Given the description of an element on the screen output the (x, y) to click on. 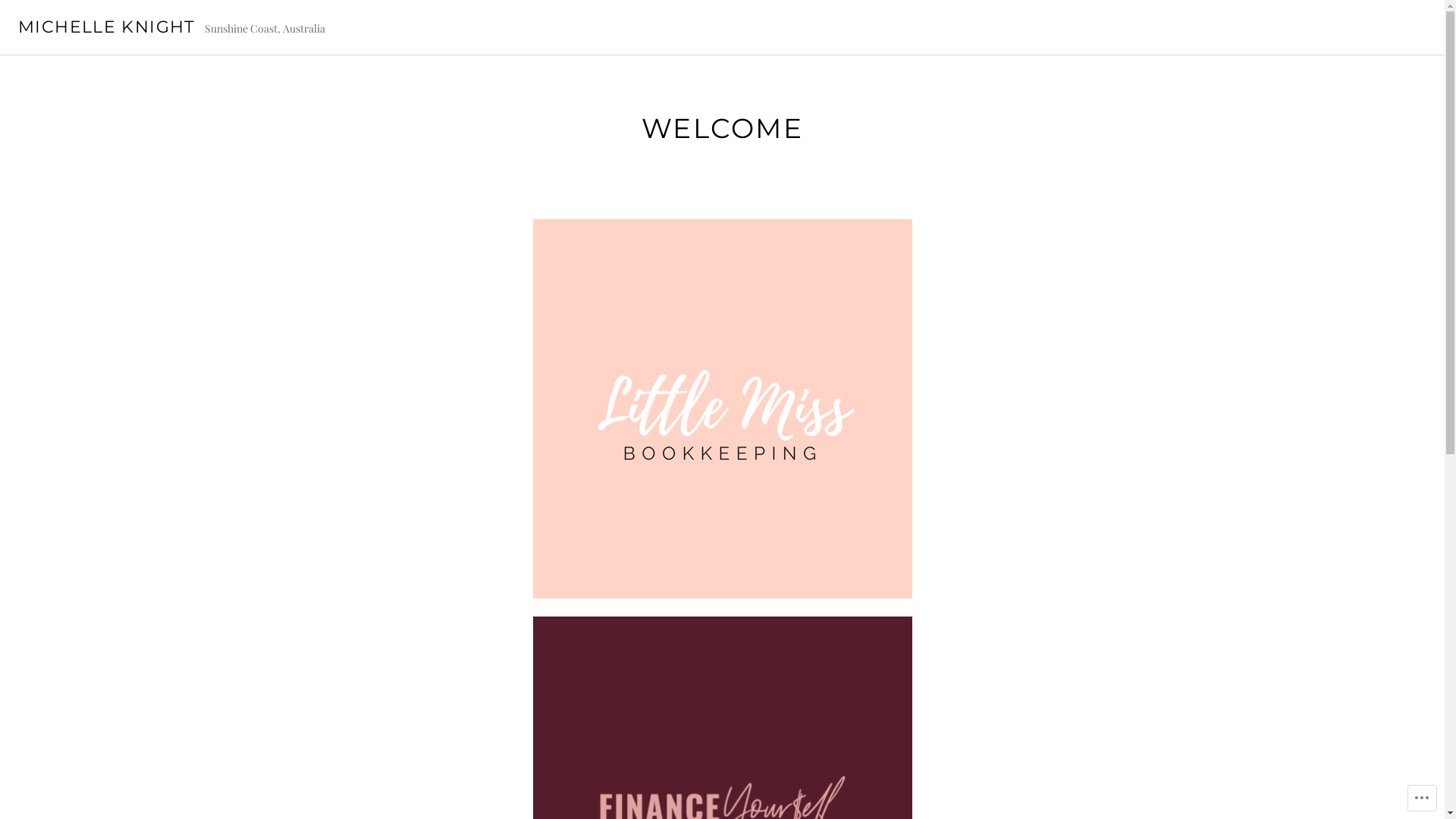
MICHELLE KNIGHT Element type: text (106, 26)
